Given the description of an element on the screen output the (x, y) to click on. 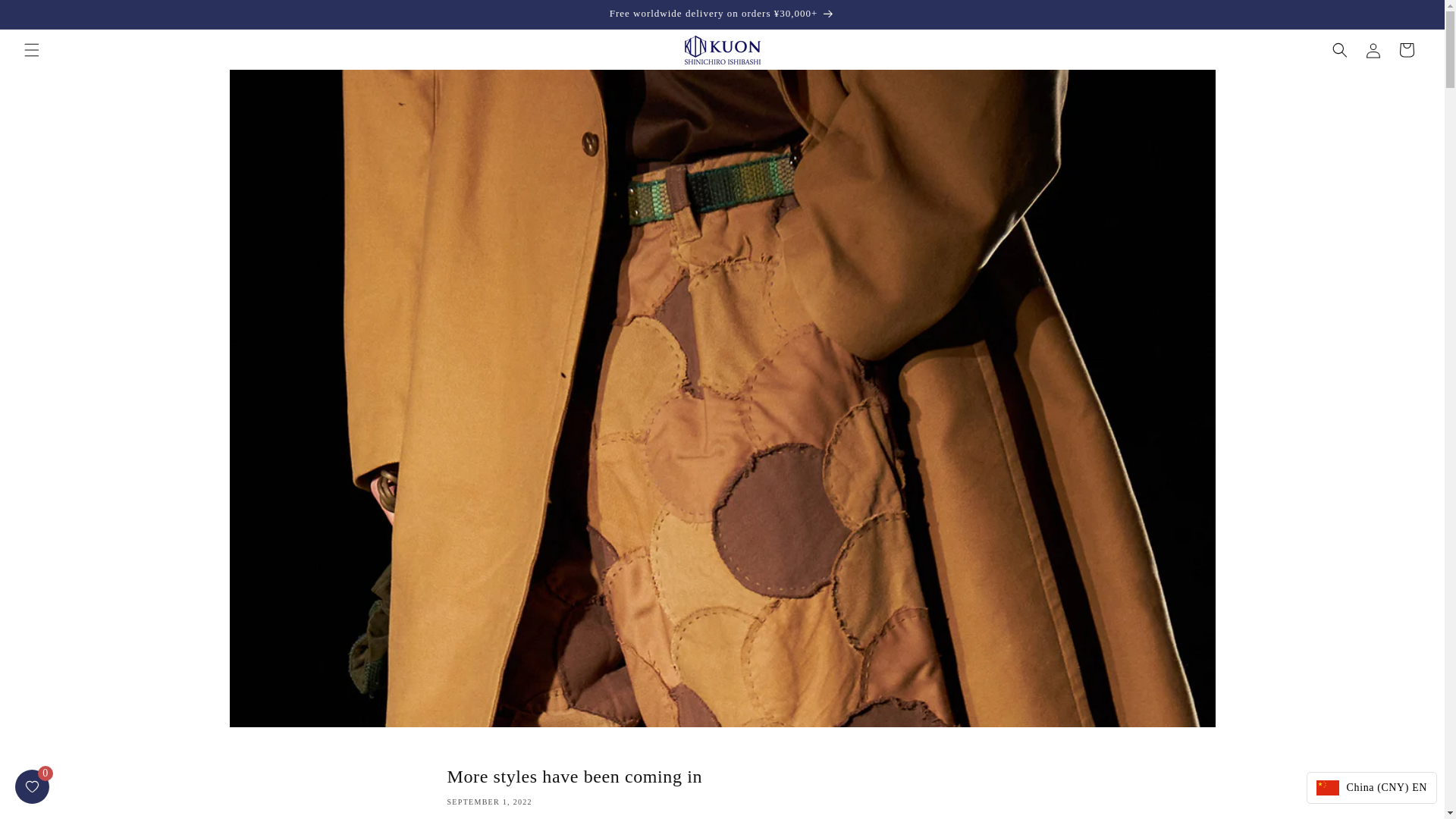
Skip to content (45, 17)
